Given the description of an element on the screen output the (x, y) to click on. 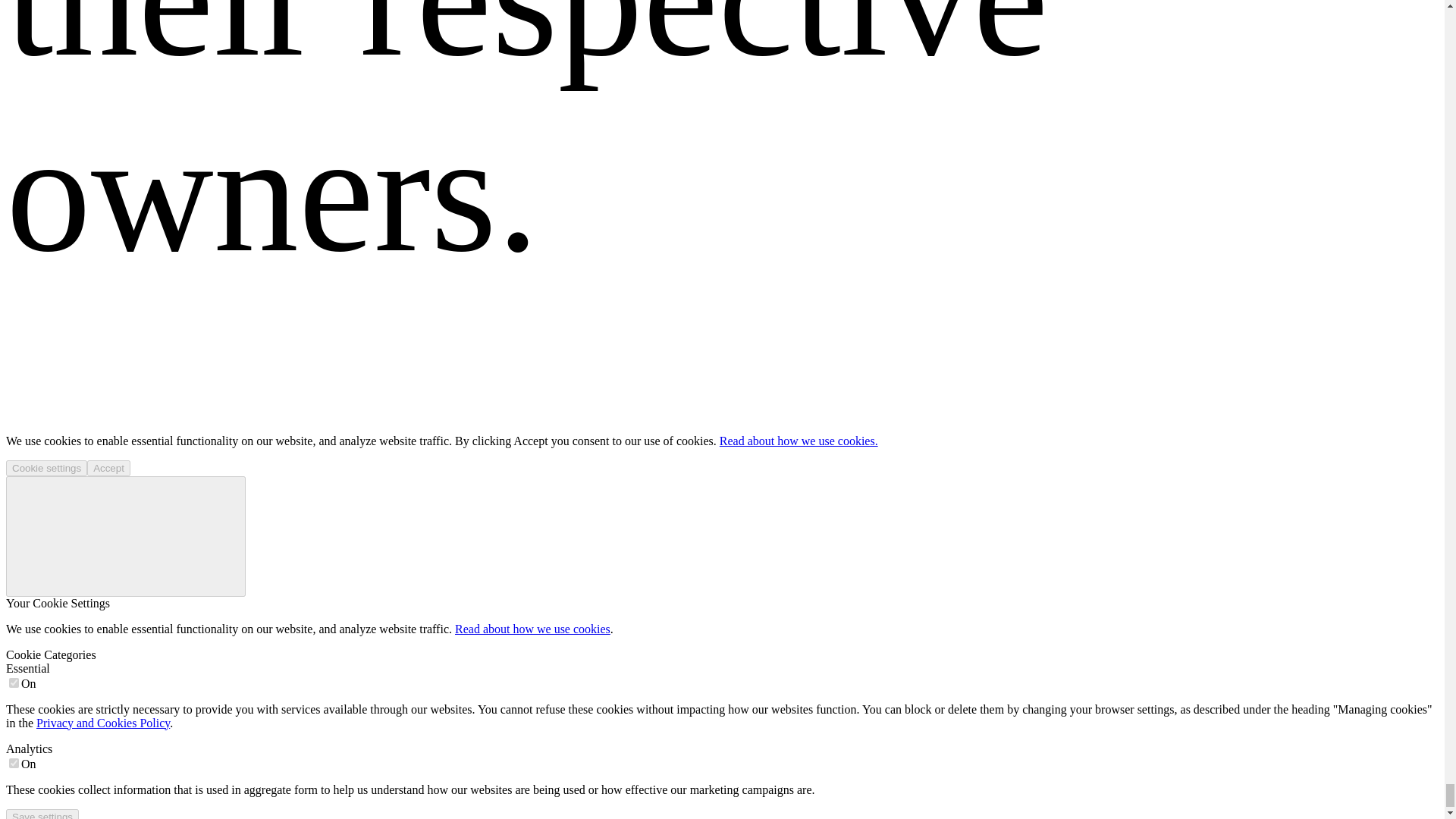
on (13, 682)
Read about how we use cookies. (798, 440)
on (13, 763)
Read about how we use cookies (532, 628)
Cookie settings (46, 467)
Accept (109, 467)
Privacy and Cookies Policy (103, 722)
